Given the description of an element on the screen output the (x, y) to click on. 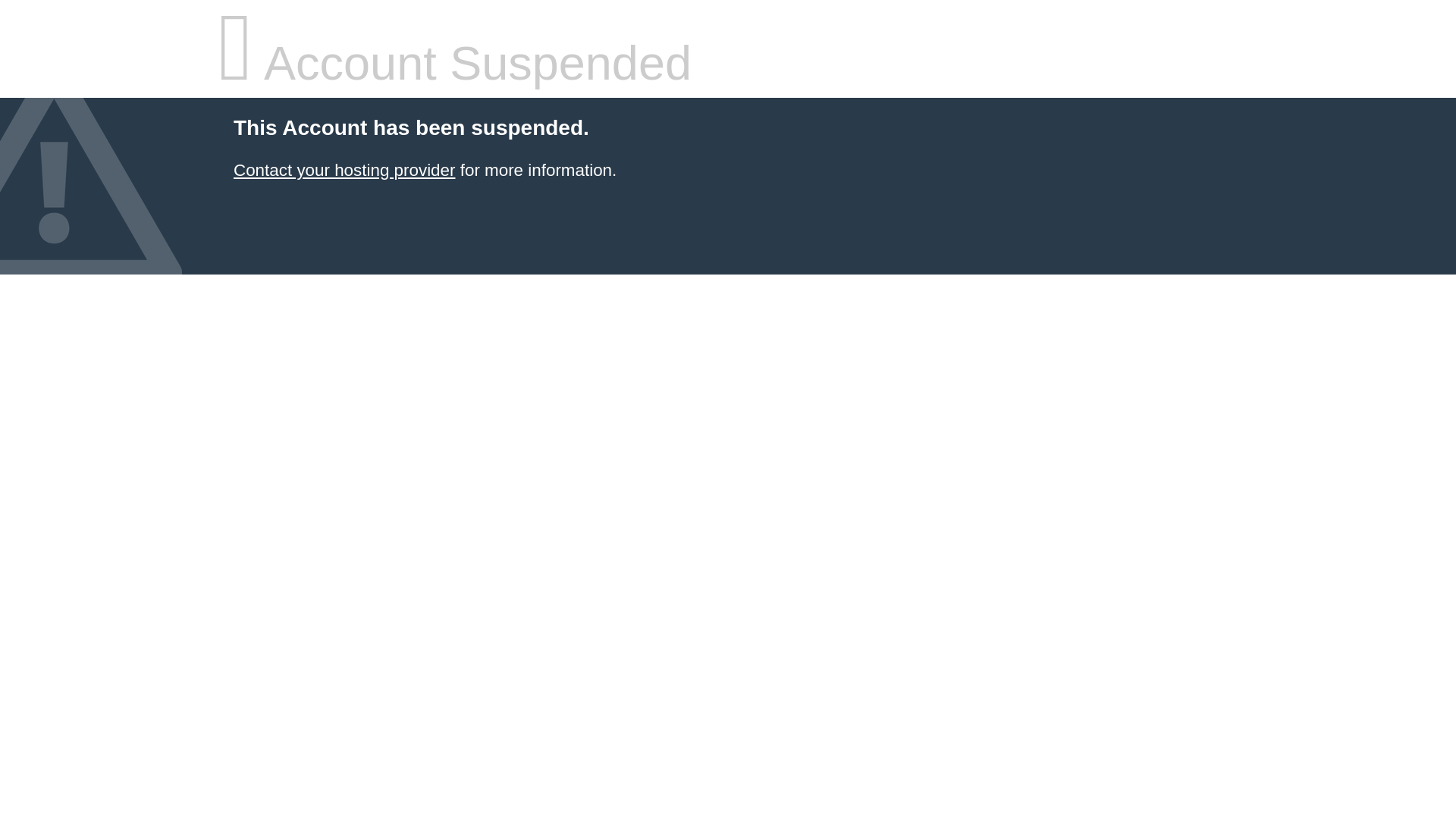
Contact your hosting provider (343, 169)
